Given the description of an element on the screen output the (x, y) to click on. 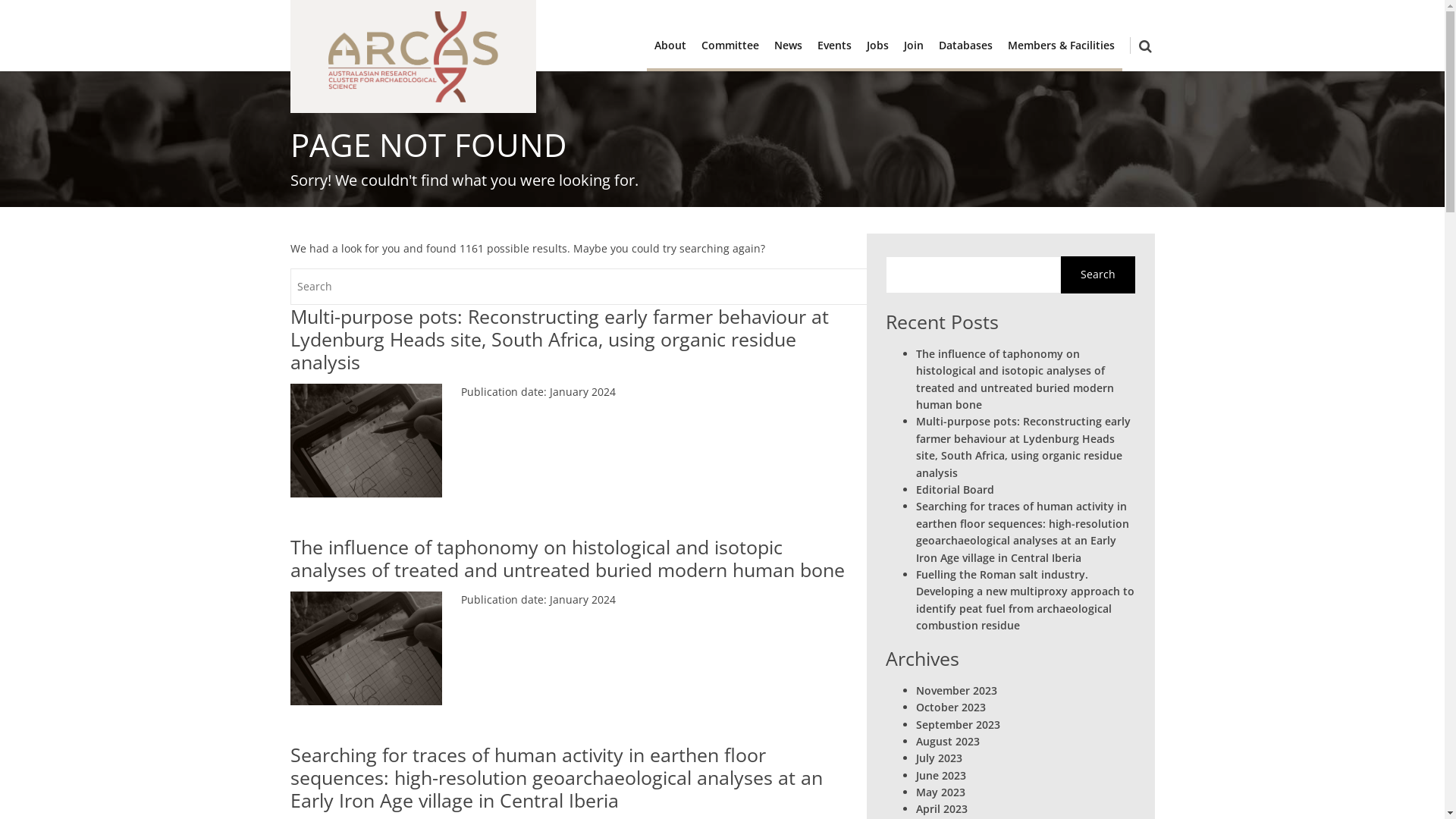
News Element type: text (787, 45)
About Element type: text (669, 45)
July 2023 Element type: text (939, 757)
Search Element type: text (1097, 274)
Jobs Element type: text (876, 45)
Members & Facilities Element type: text (1060, 45)
September 2023 Element type: text (958, 724)
Committee Element type: text (729, 45)
April 2023 Element type: text (941, 808)
June 2023 Element type: text (941, 775)
August 2023 Element type: text (947, 741)
Databases Element type: text (965, 45)
May 2023 Element type: text (940, 791)
Events Element type: text (834, 45)
Editorial Board Element type: text (955, 489)
Join Element type: text (913, 45)
October 2023 Element type: text (950, 706)
November 2023 Element type: text (956, 690)
